Given the description of an element on the screen output the (x, y) to click on. 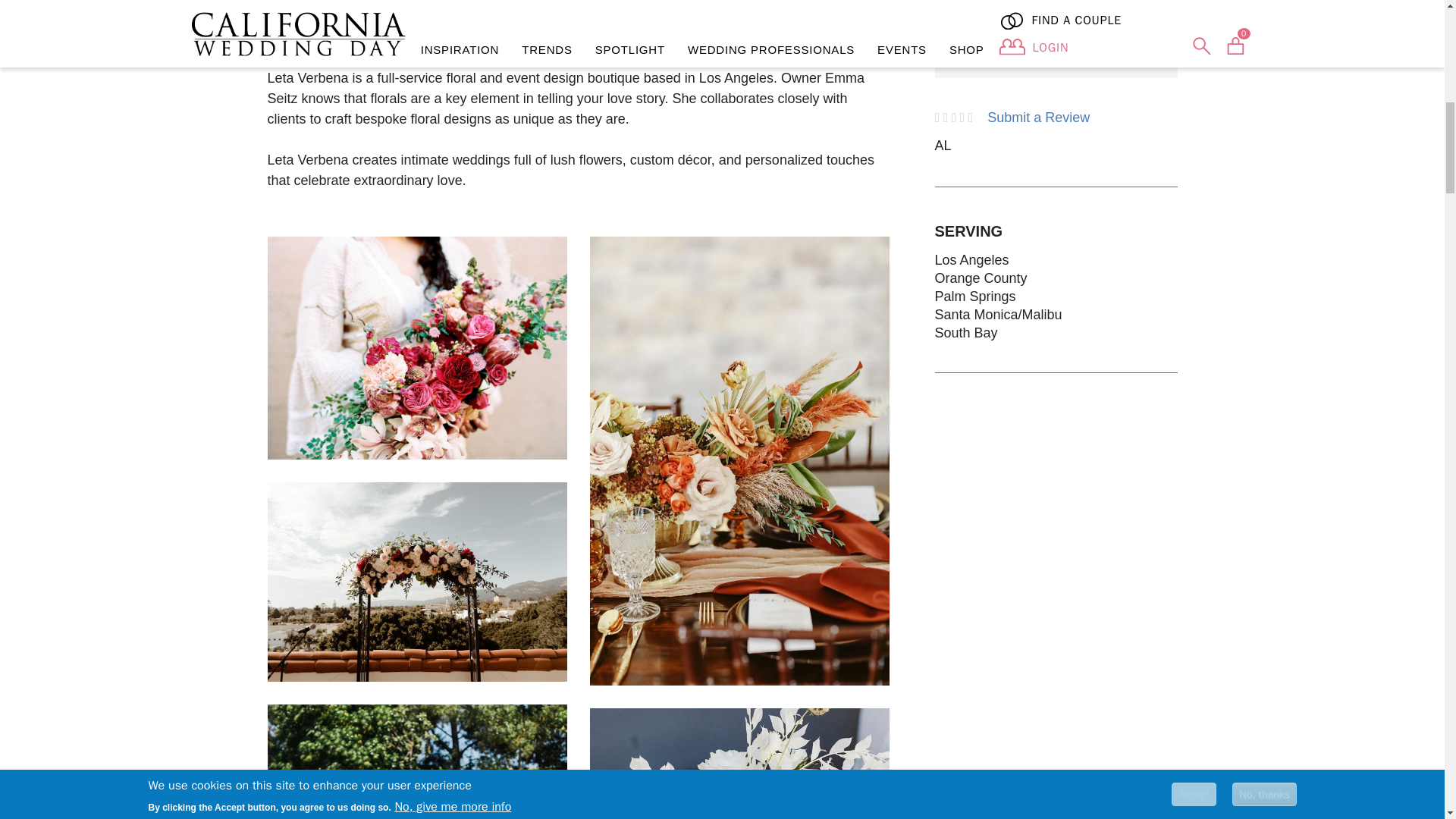
REVIEWS (665, 14)
TEAM (829, 14)
Share to Facebook (1058, 52)
AMENITIES (414, 14)
ABOUT (331, 14)
Share to Email (1119, 52)
REQUEST INFO (1055, 13)
PHOTOS (504, 14)
VIDEOS (583, 14)
Share to Pinterest (1089, 52)
CONTACT (752, 14)
Submit a Review (1038, 117)
